Given the description of an element on the screen output the (x, y) to click on. 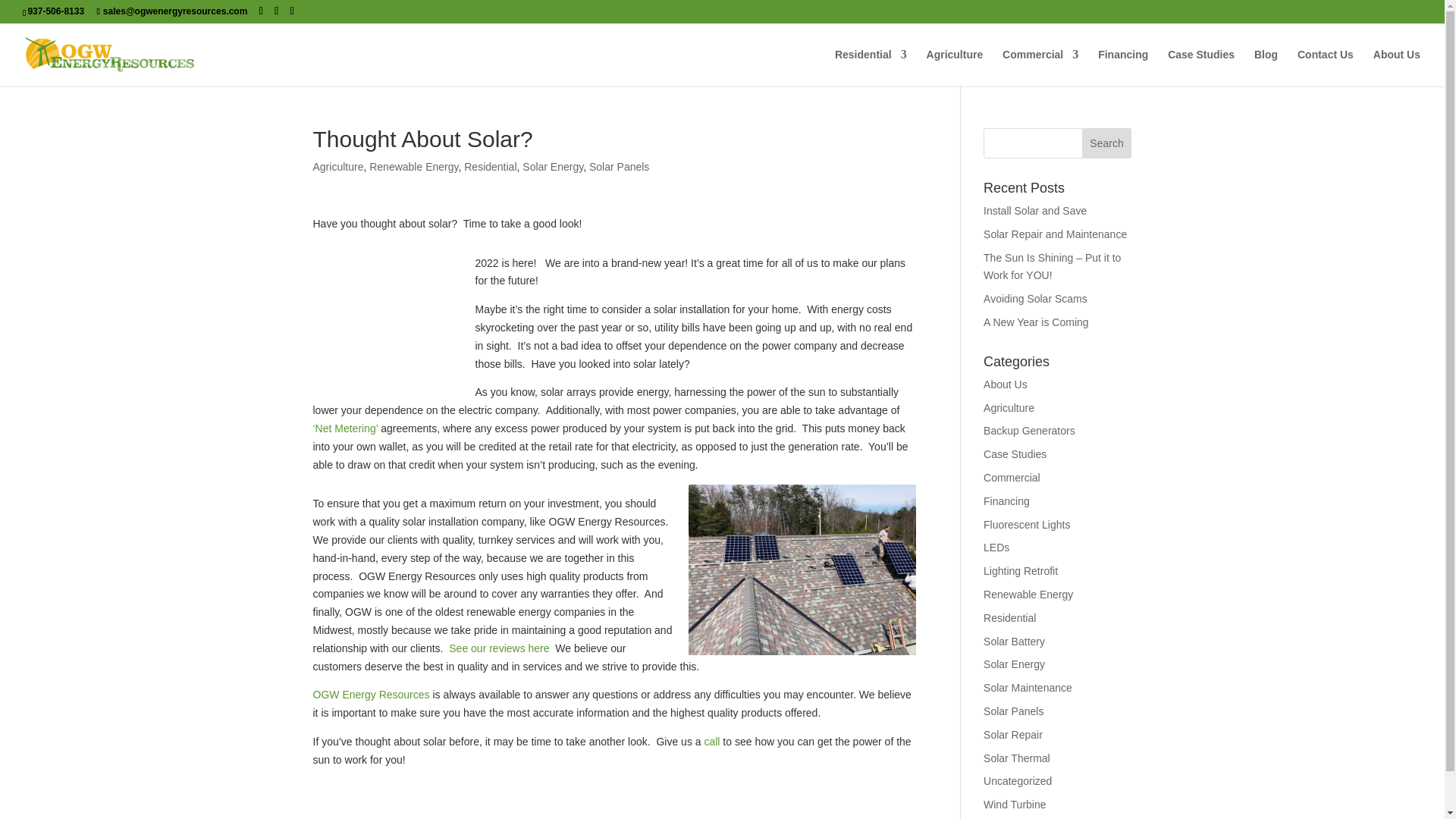
Residential (870, 67)
About Us (1397, 67)
Solar Panels (619, 166)
call (711, 741)
Financing (1122, 67)
Case Studies (1200, 67)
Search (1106, 142)
Search (1106, 142)
Install Solar and Save (1035, 210)
OGW Energy Resources (371, 694)
